Given the description of an element on the screen output the (x, y) to click on. 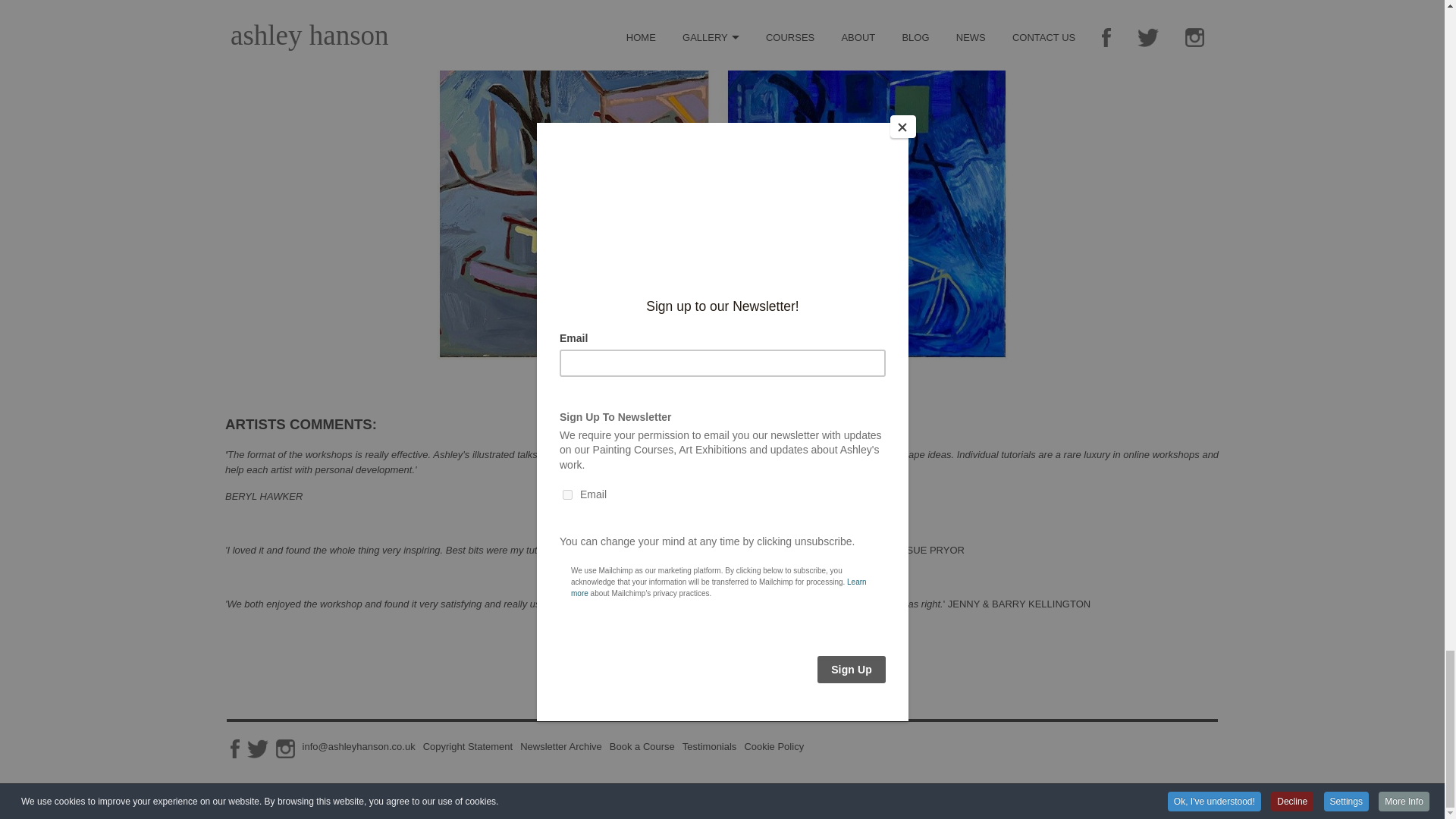
Book a Course (642, 746)
Testimonials (709, 746)
Newsletter Archive (560, 746)
Copyright Statement (468, 746)
